Given the description of an element on the screen output the (x, y) to click on. 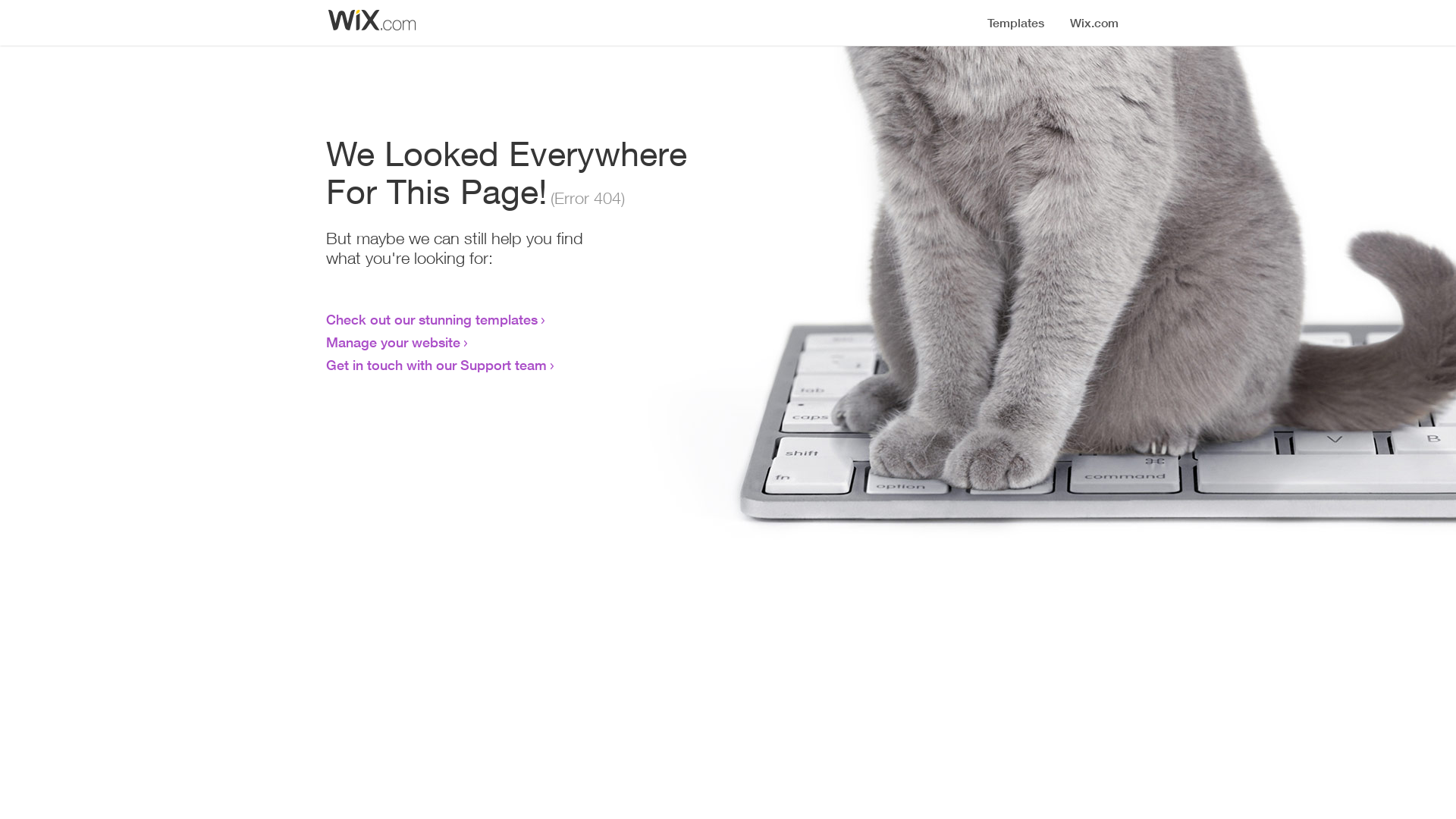
Check out our stunning templates Element type: text (431, 318)
Manage your website Element type: text (393, 341)
Get in touch with our Support team Element type: text (436, 364)
